Given the description of an element on the screen output the (x, y) to click on. 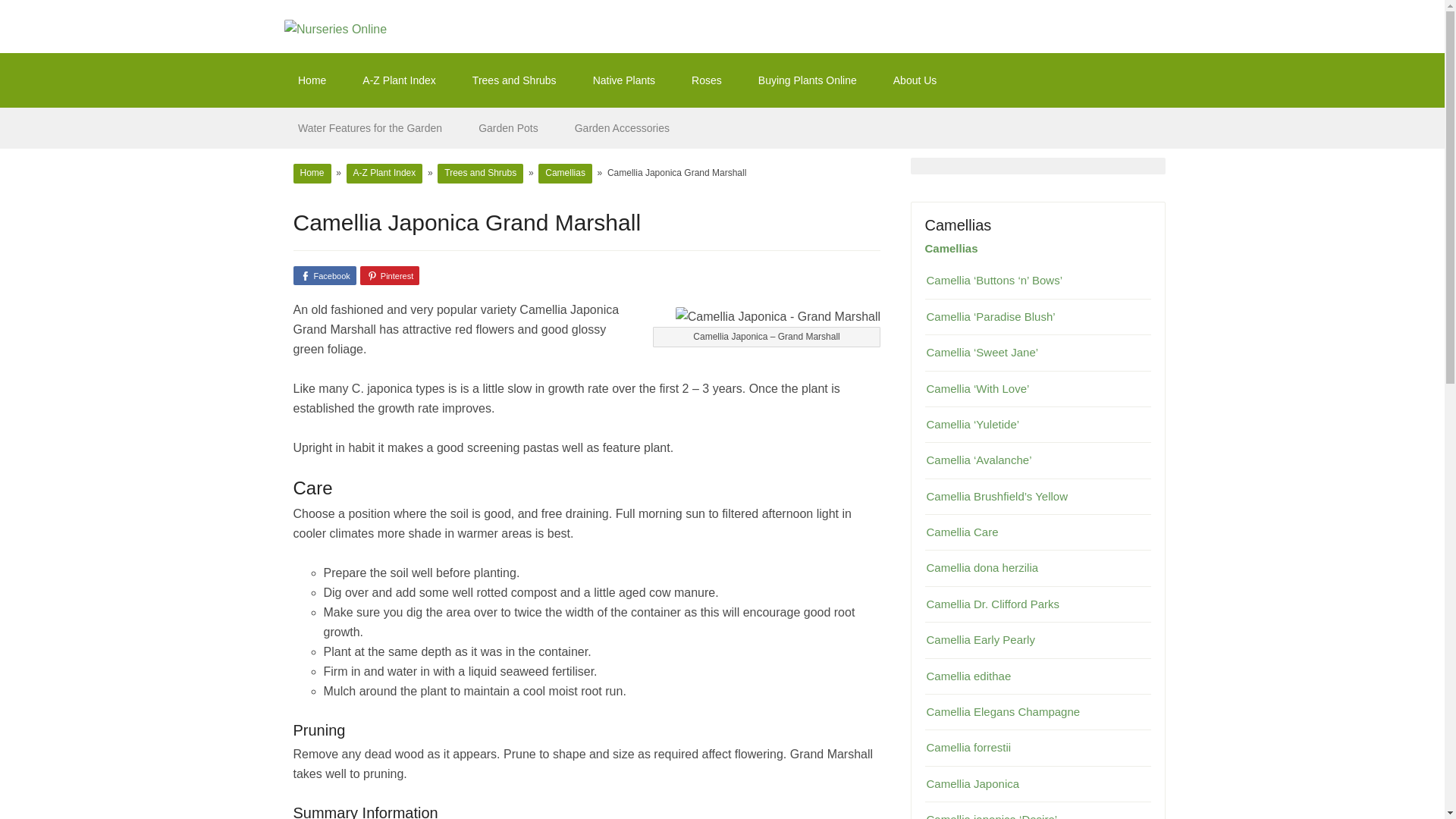
Trees and Shrubs (514, 80)
Camellia Dr. Clifford Parks (1037, 604)
Home (311, 173)
Buying Plants Online (807, 80)
Nurseries Online (335, 29)
Facebook (323, 274)
Roses (705, 80)
Trees and Shrubs (480, 173)
Water Features for the Garden (369, 127)
Camellias (957, 225)
Camellias (951, 247)
Camellia Care (1037, 532)
A-Z Plant Index (398, 80)
Garden Pots (508, 127)
Camellia edithae (1037, 675)
